Given the description of an element on the screen output the (x, y) to click on. 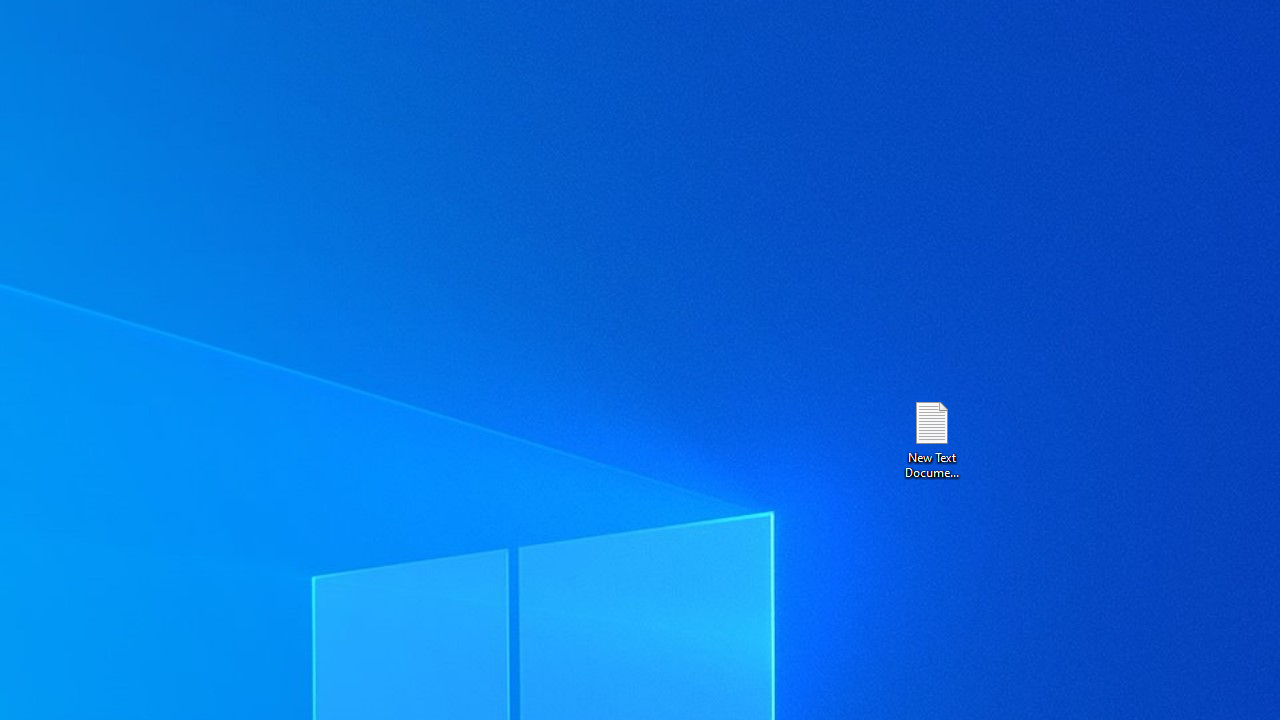
New Text Document (2) (931, 438)
